Given the description of an element on the screen output the (x, y) to click on. 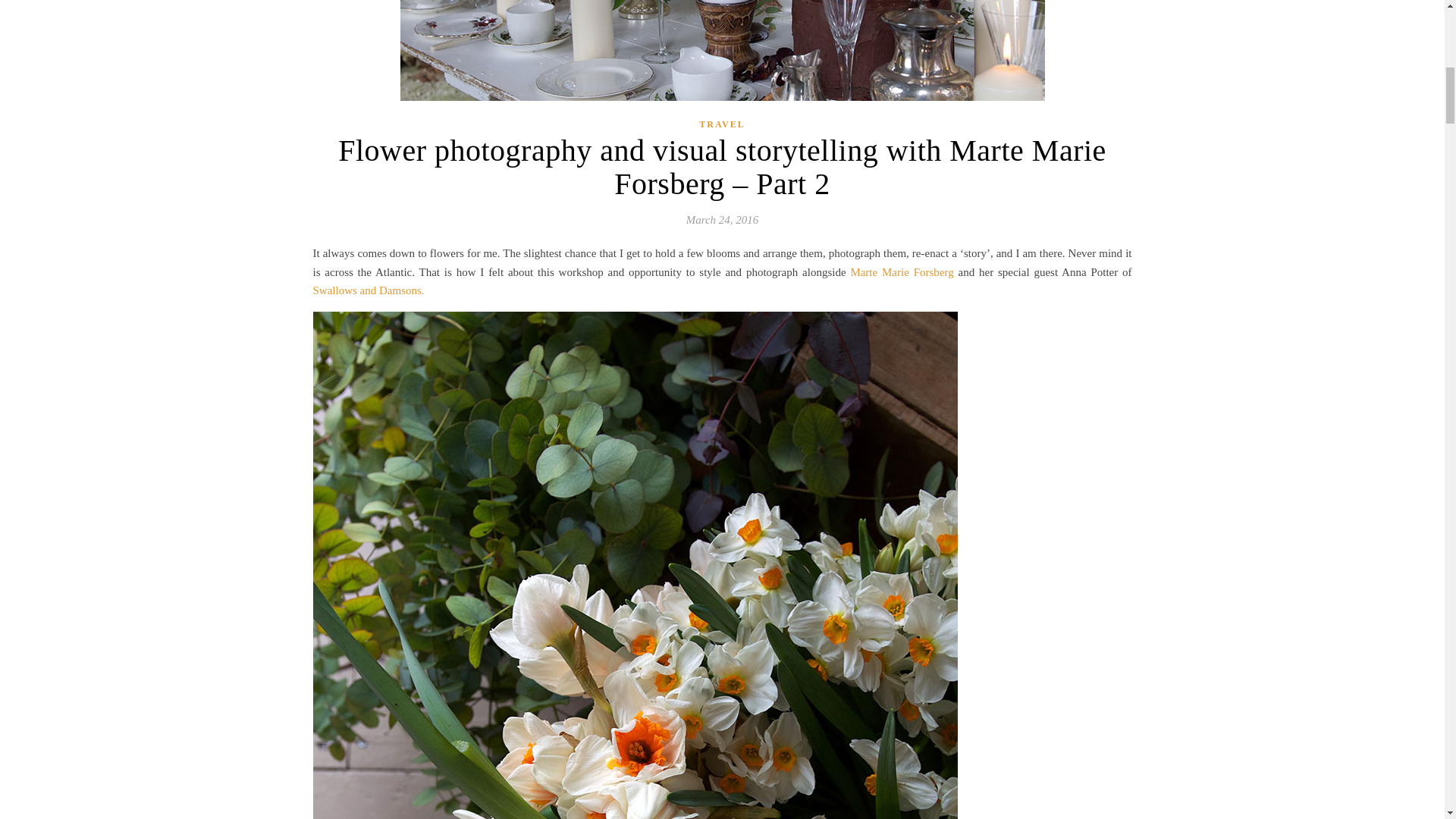
TRAVEL (721, 124)
Marte Marie Forsberg (901, 272)
Swallows and Damsons. (368, 290)
